Given the description of an element on the screen output the (x, y) to click on. 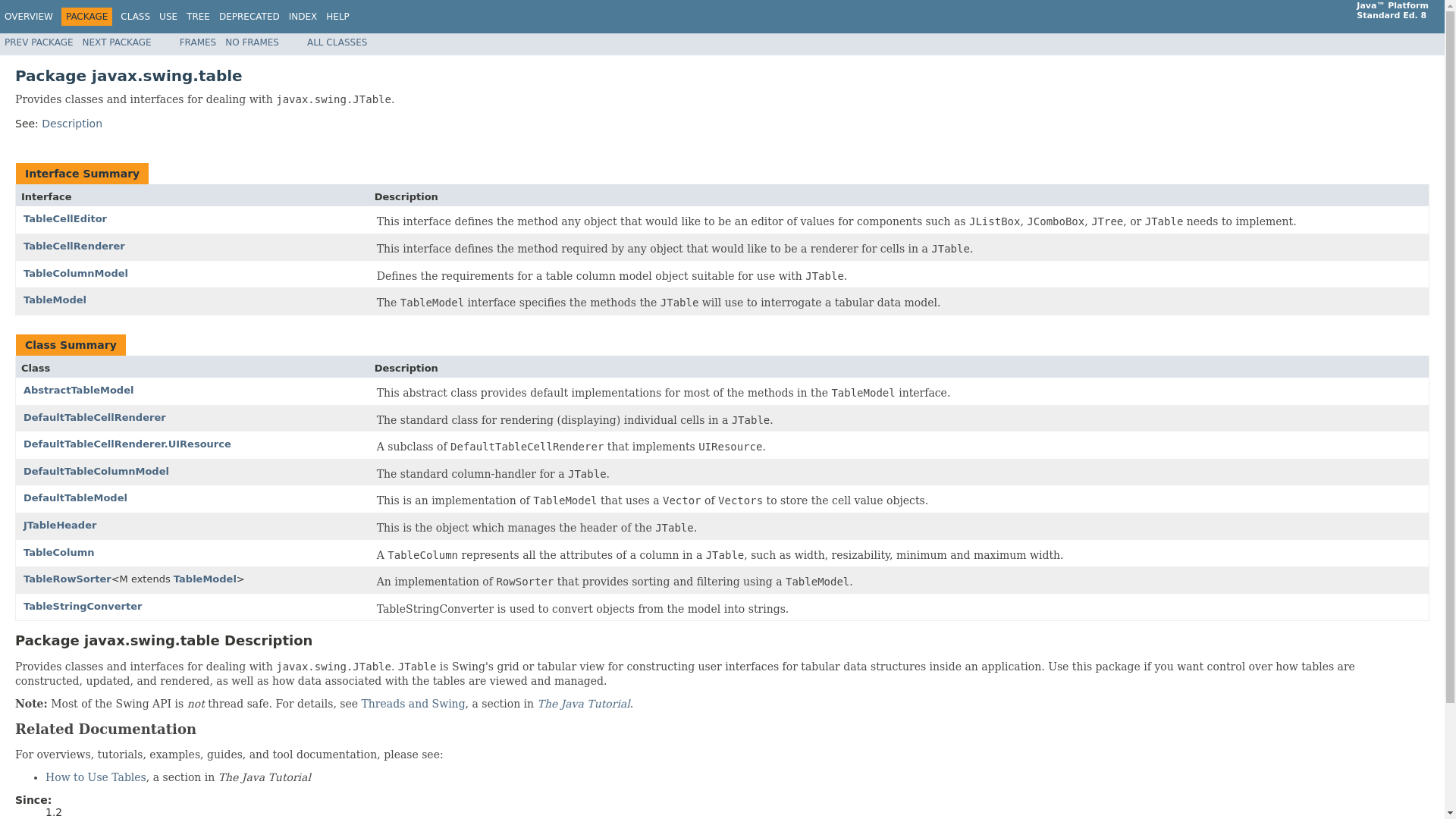
class in javax.swing.table (82, 605)
TableCellRenderer (74, 245)
class in javax.swing.table (95, 471)
TableColumnModel (75, 273)
TableRowSorter (67, 578)
DefaultTableModel (75, 497)
class in javax.swing.table (75, 497)
DefaultTableCellRenderer.UIResource (127, 443)
FRAMES (197, 41)
TableModel (204, 578)
OVERVIEW (28, 16)
DefaultTableColumnModel (95, 471)
class in javax.swing.table (59, 524)
INDEX (302, 16)
interface in javax.swing.table (74, 245)
